Given the description of an element on the screen output the (x, y) to click on. 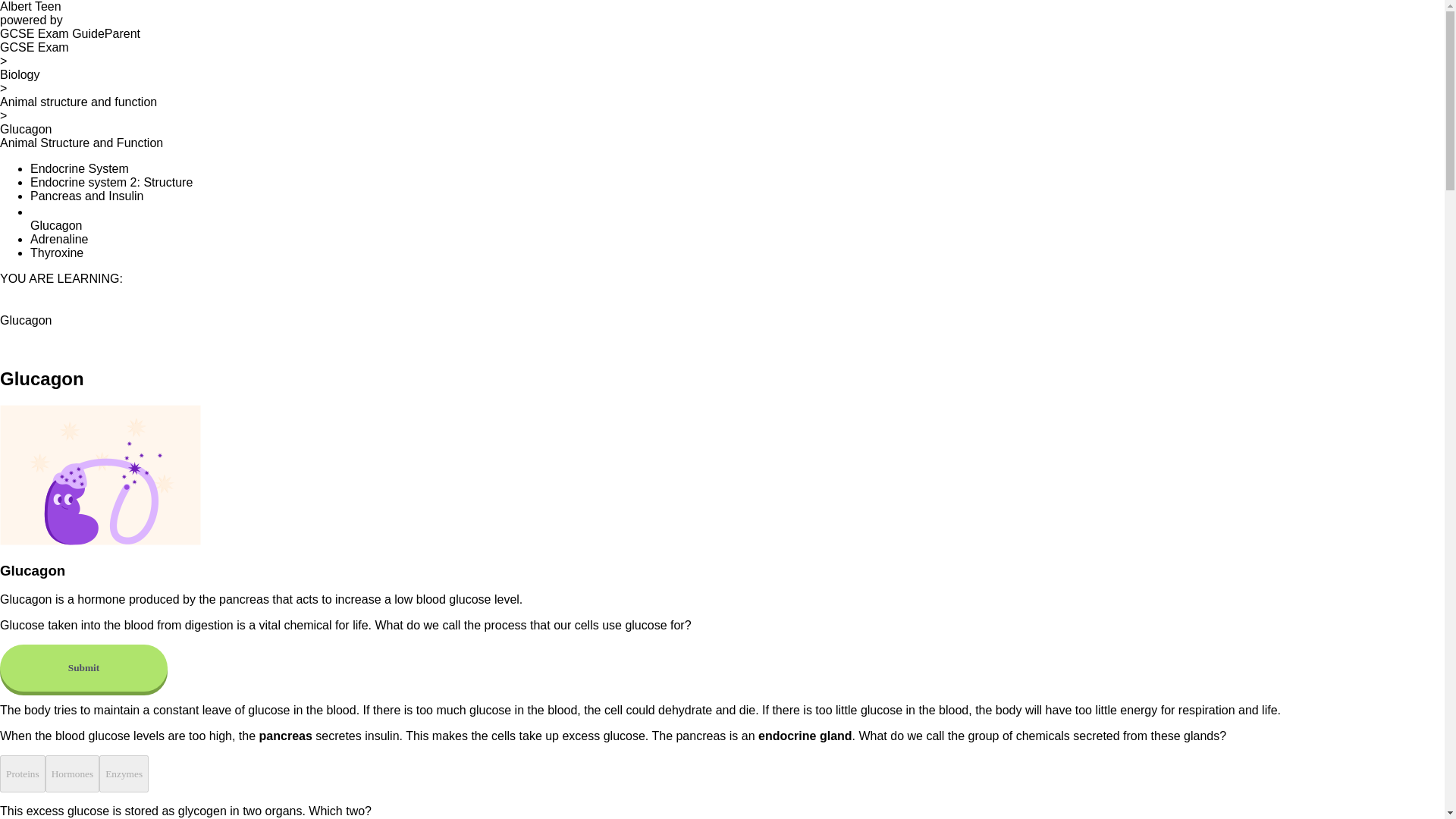
Animal structure and function (78, 101)
Parent (121, 33)
Hormones (72, 773)
Submit (83, 667)
Biology (19, 74)
Adrenaline (59, 238)
Glucagon (26, 128)
Endocrine System (79, 168)
Thyroxine (56, 252)
Enzymes (123, 773)
